Given the description of an element on the screen output the (x, y) to click on. 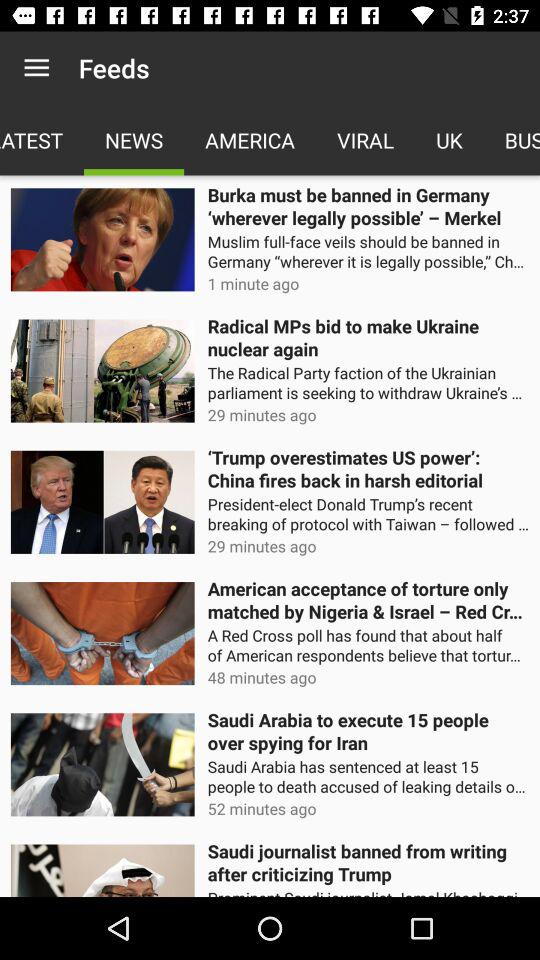
open the item below the feeds icon (134, 140)
